Given the description of an element on the screen output the (x, y) to click on. 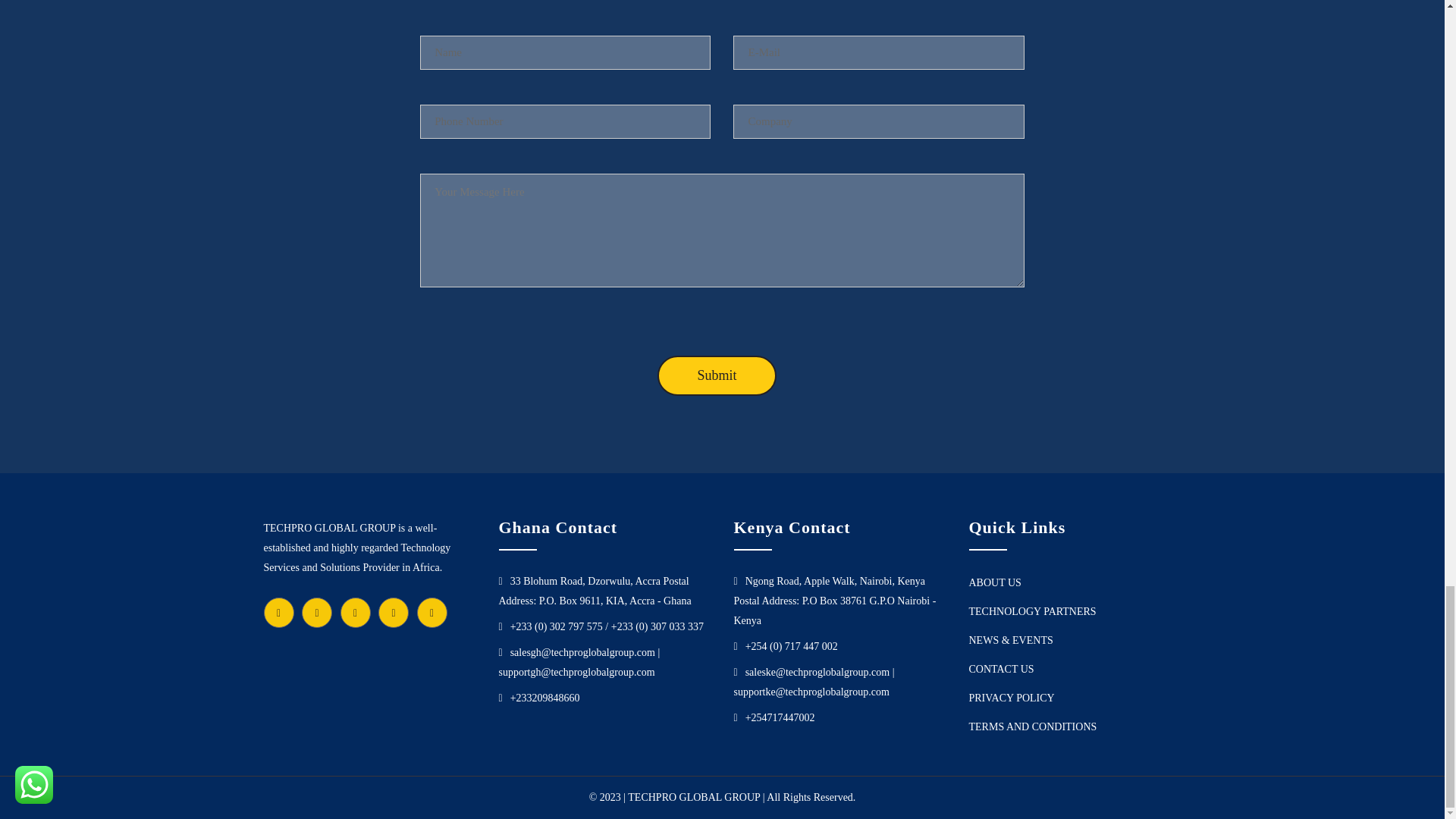
Submit (717, 375)
